Given the description of an element on the screen output the (x, y) to click on. 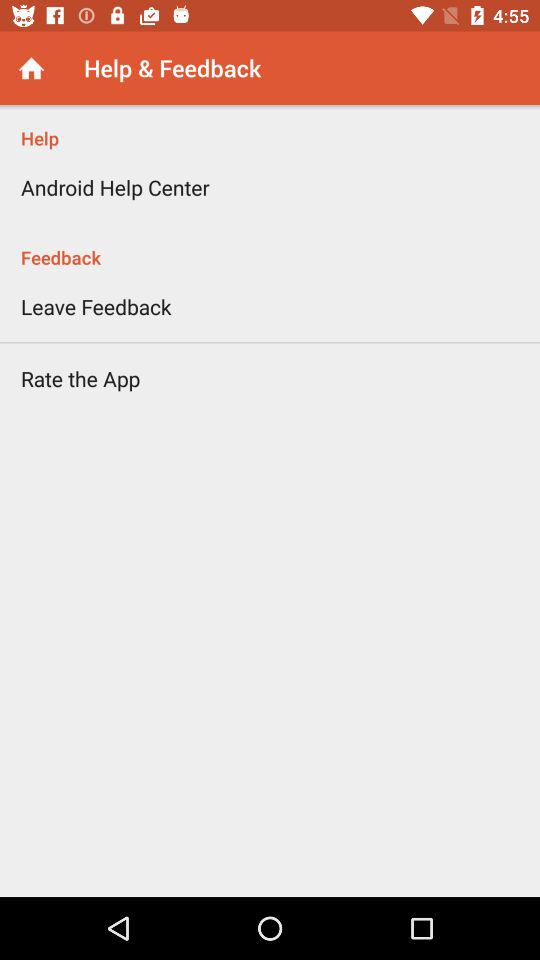
click rate the app (80, 378)
